Given the description of an element on the screen output the (x, y) to click on. 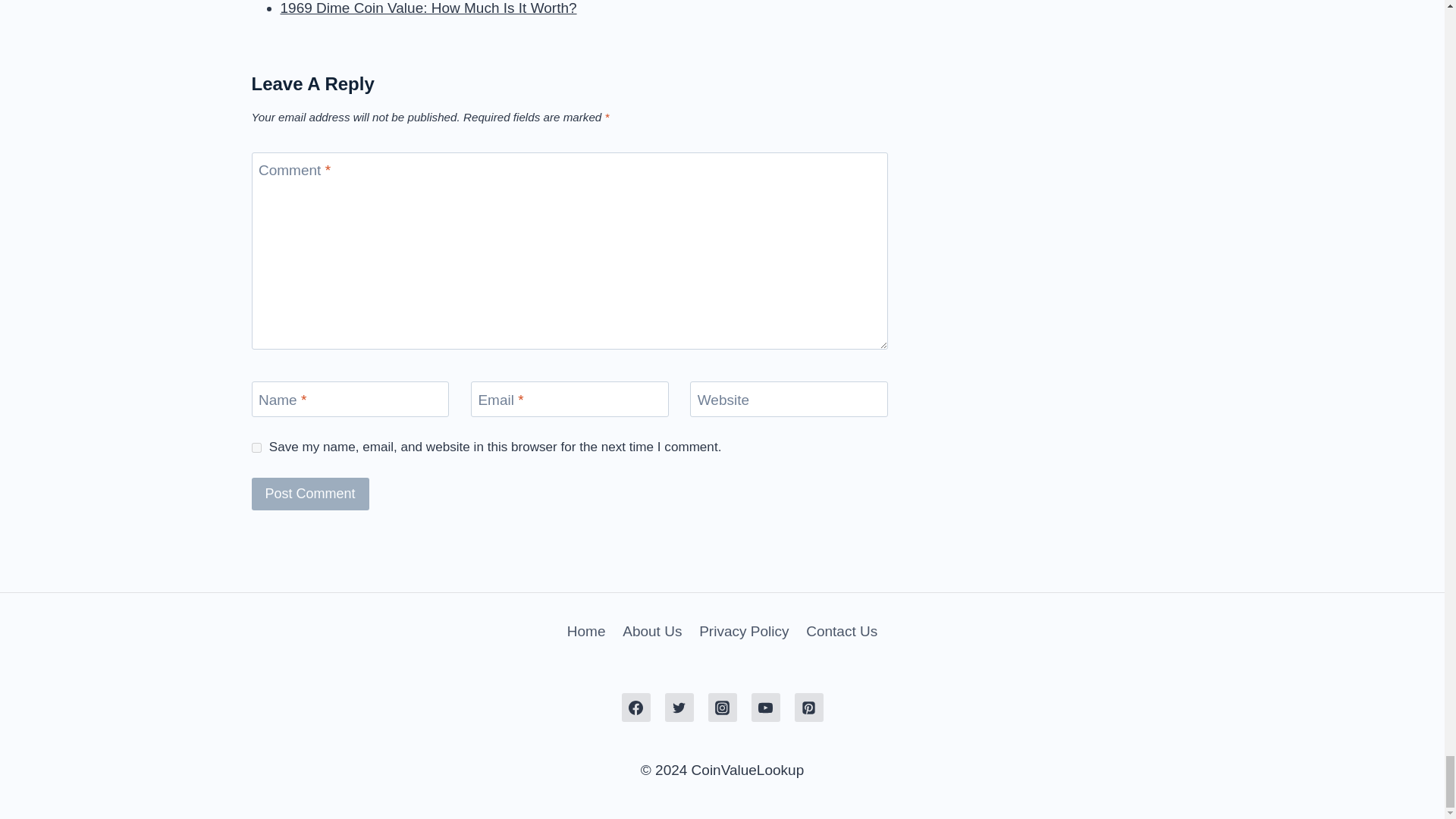
yes (256, 447)
1969 Dime Coin Value: How Much Is It Worth? (428, 7)
Post Comment (310, 493)
